Given the description of an element on the screen output the (x, y) to click on. 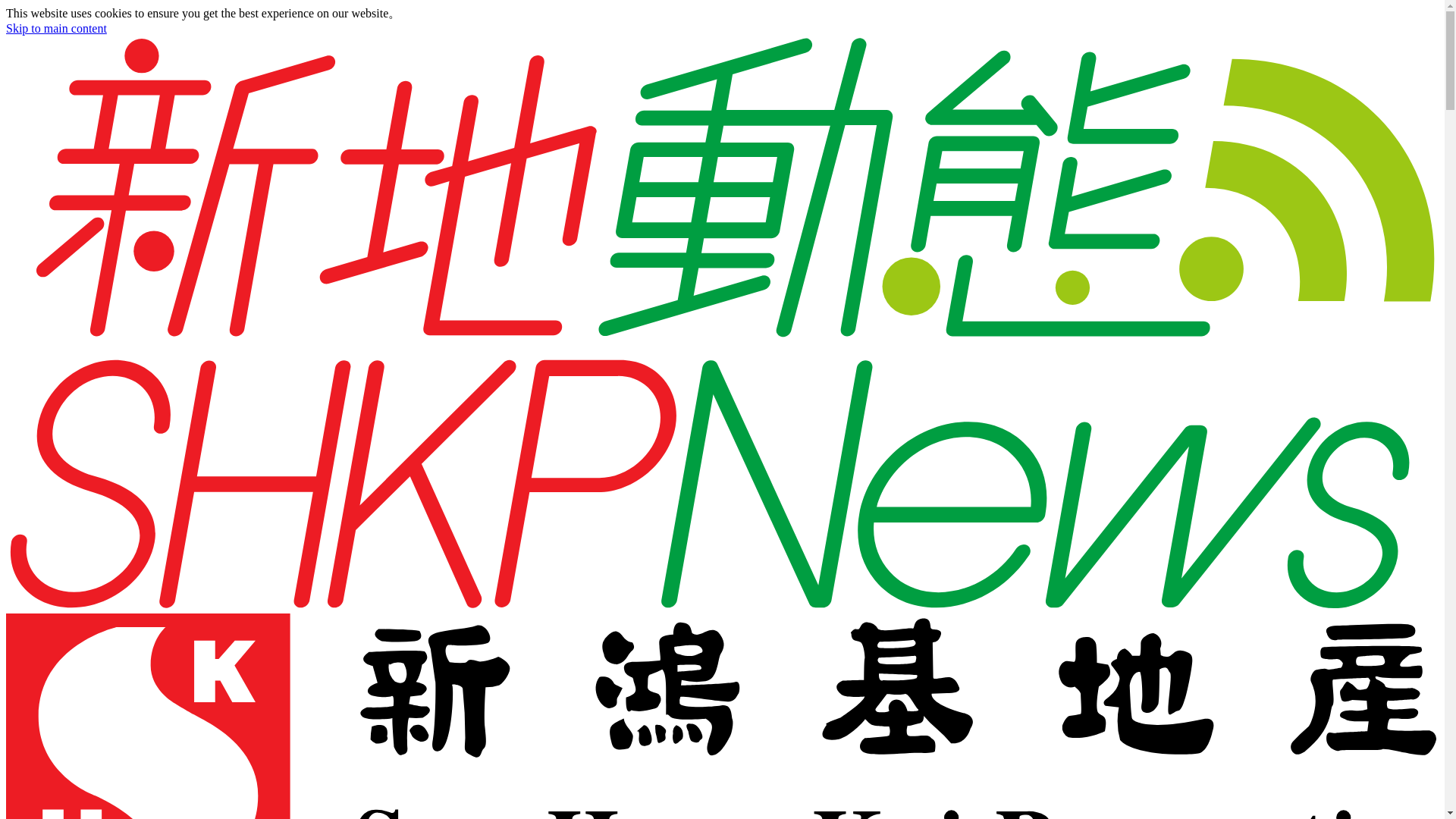
MORE INFO (440, 12)
Skip to main content (55, 28)
